Given the description of an element on the screen output the (x, y) to click on. 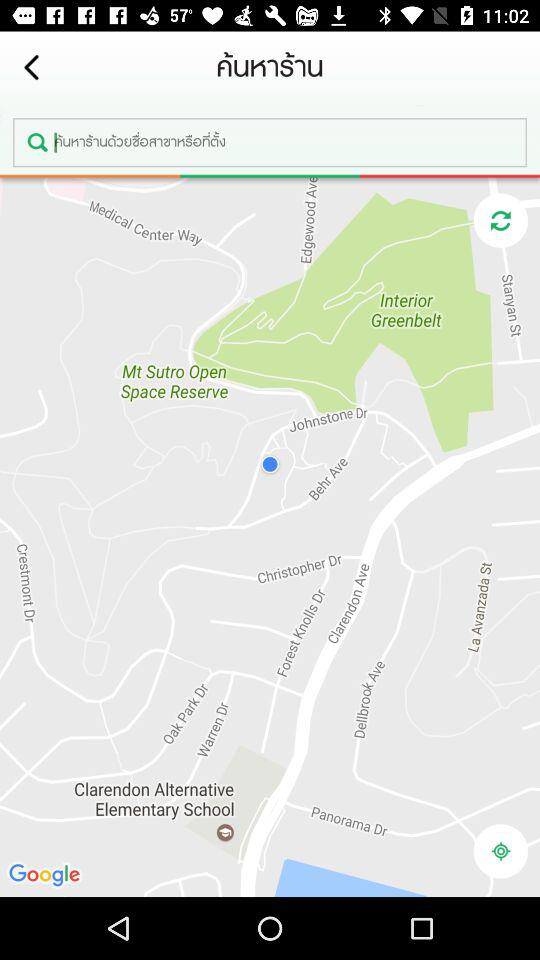
search (269, 142)
